Given the description of an element on the screen output the (x, y) to click on. 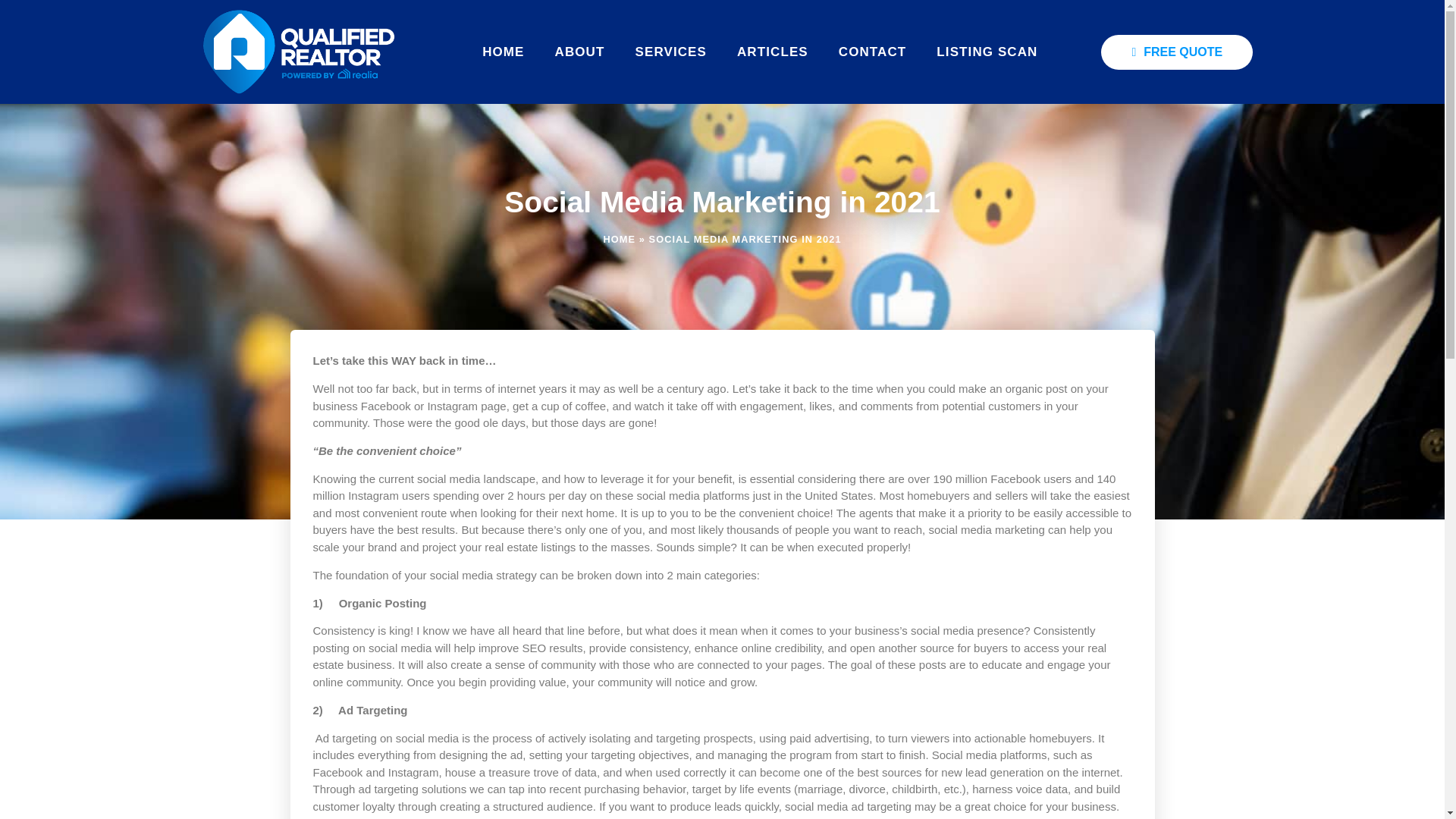
LISTING SCAN (986, 52)
HOME (618, 238)
CONTACT (872, 52)
HOME (502, 52)
FREE QUOTE (1176, 52)
ARTICLES (773, 52)
ABOUT (580, 52)
SERVICES (671, 52)
